Given the description of an element on the screen output the (x, y) to click on. 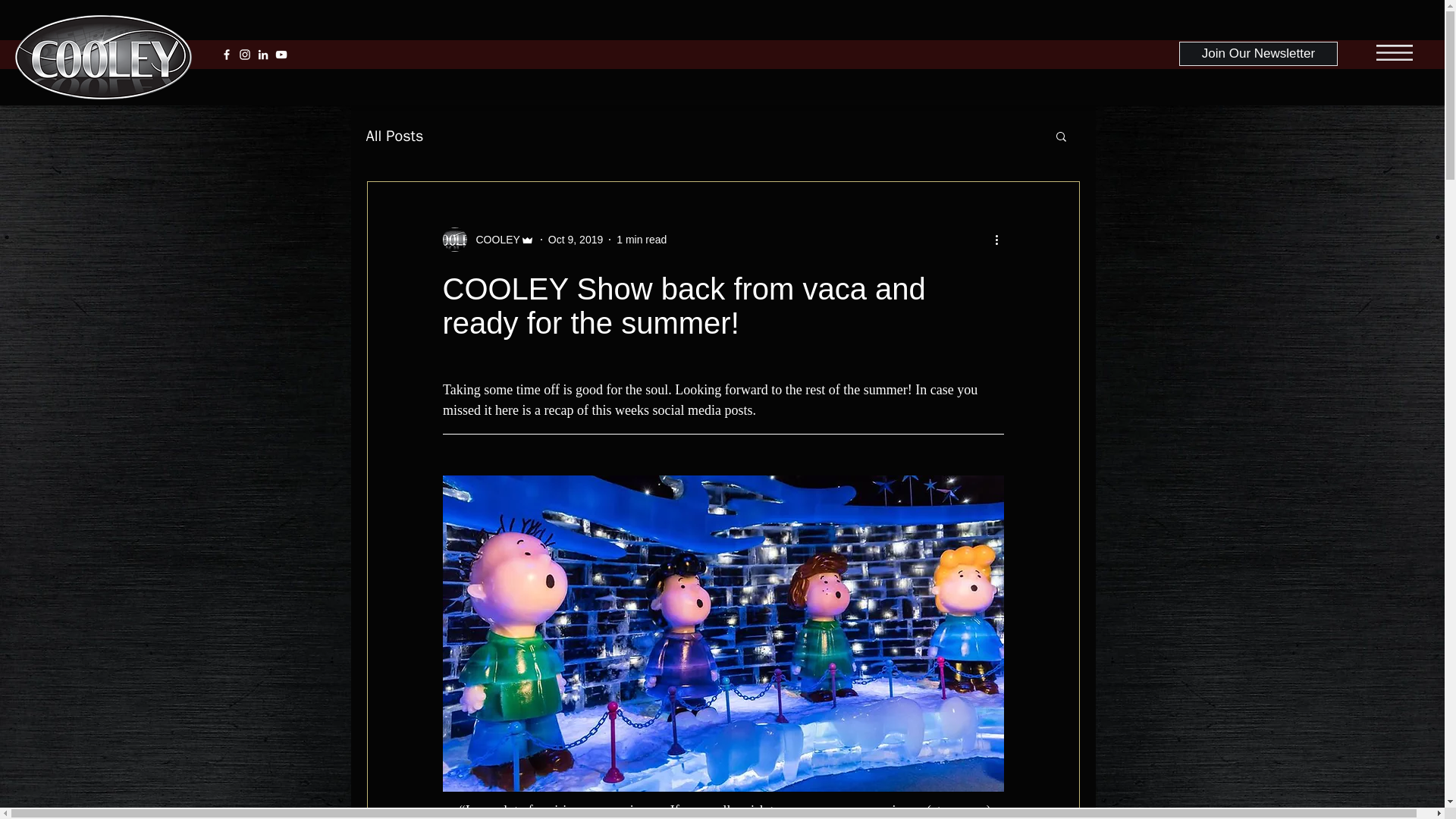
Join Our Newsletter (1258, 53)
Oct 9, 2019 (575, 239)
1 min read (640, 239)
COOLEY (493, 239)
Cooley Show (103, 57)
All Posts (394, 136)
